Given the description of an element on the screen output the (x, y) to click on. 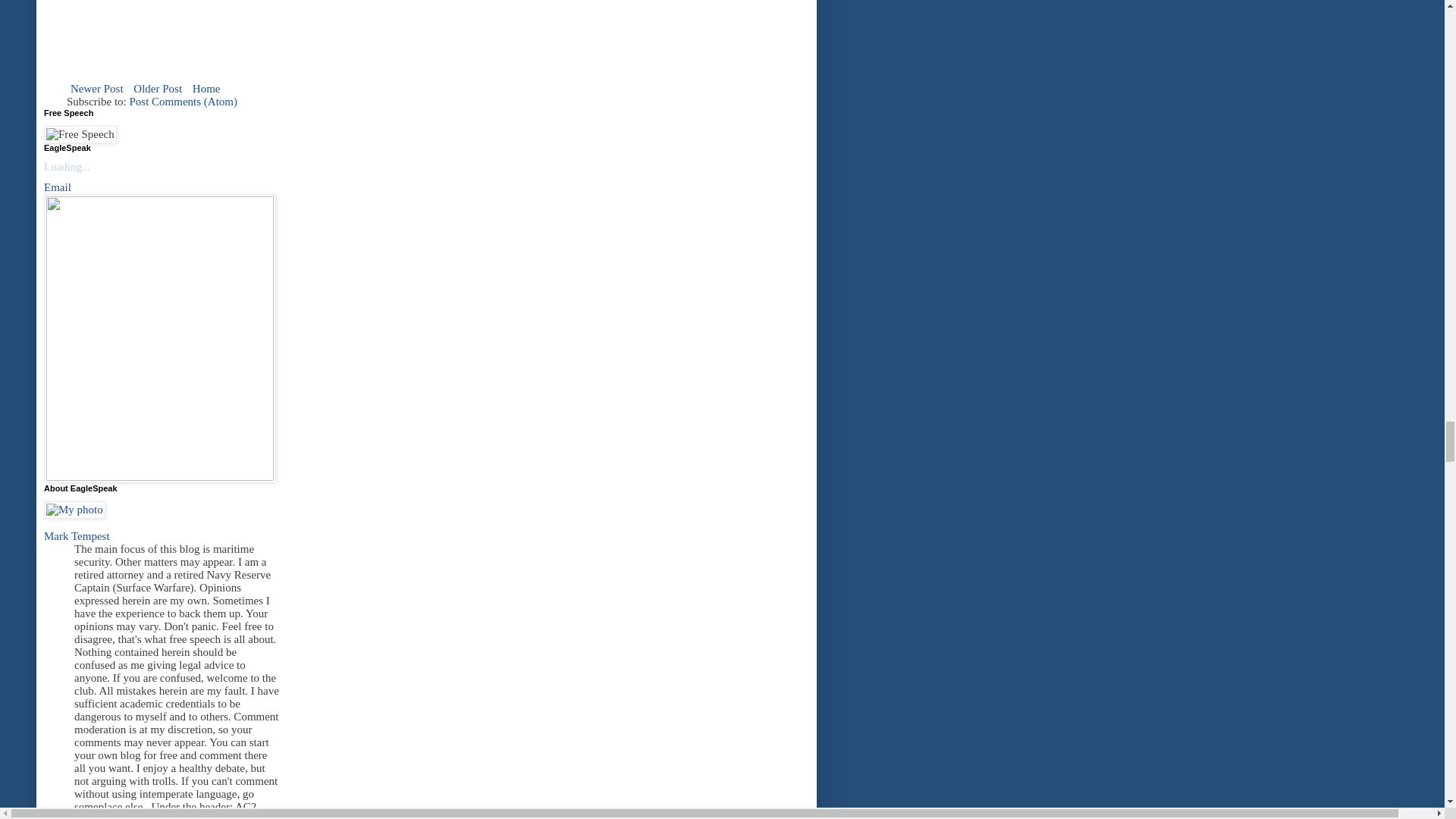
Older Post (157, 88)
Newer Post (97, 88)
